Given the description of an element on the screen output the (x, y) to click on. 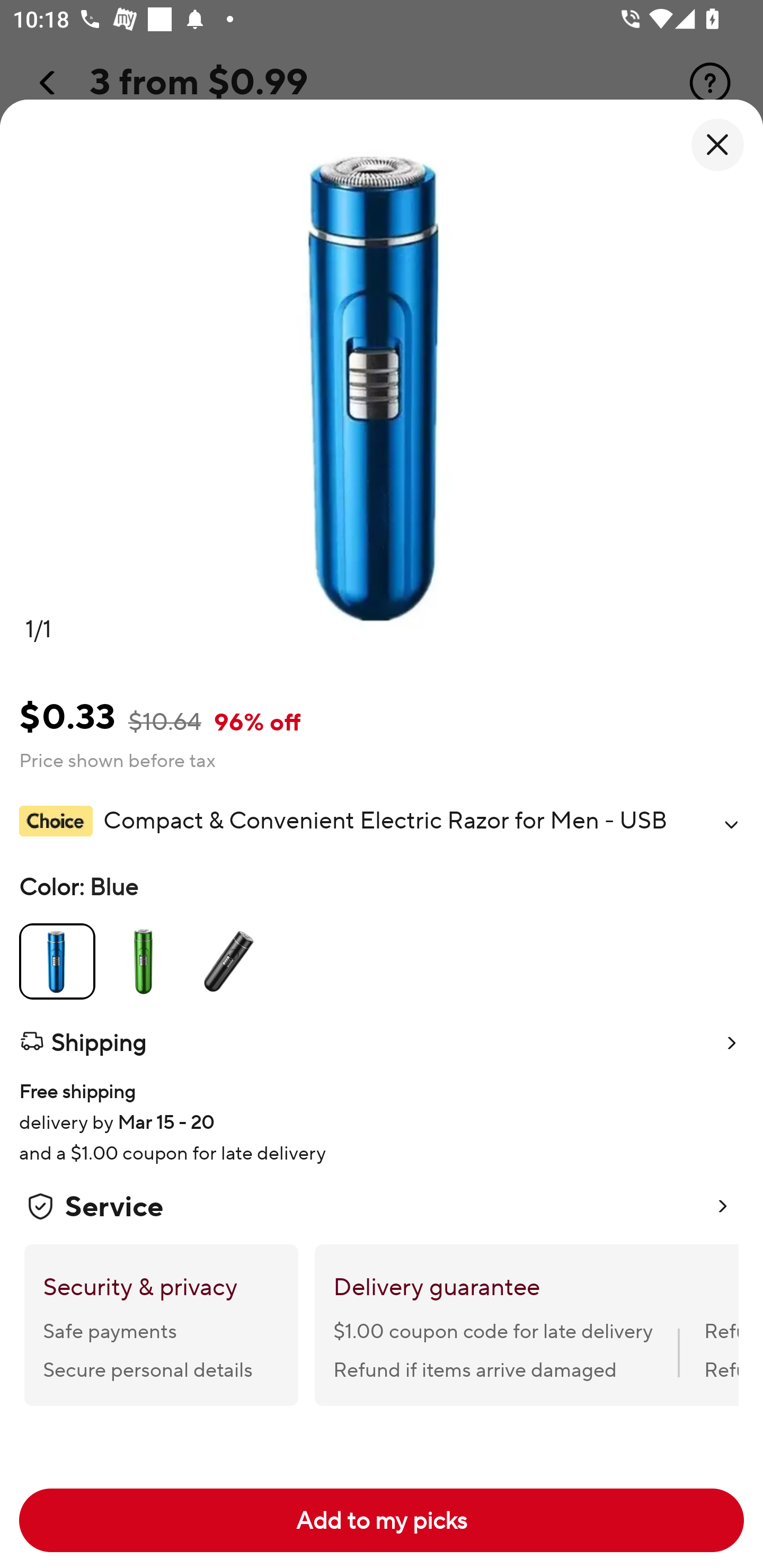
close  (717, 144)
 (730, 824)
Add to my picks (381, 1520)
